Given the description of an element on the screen output the (x, y) to click on. 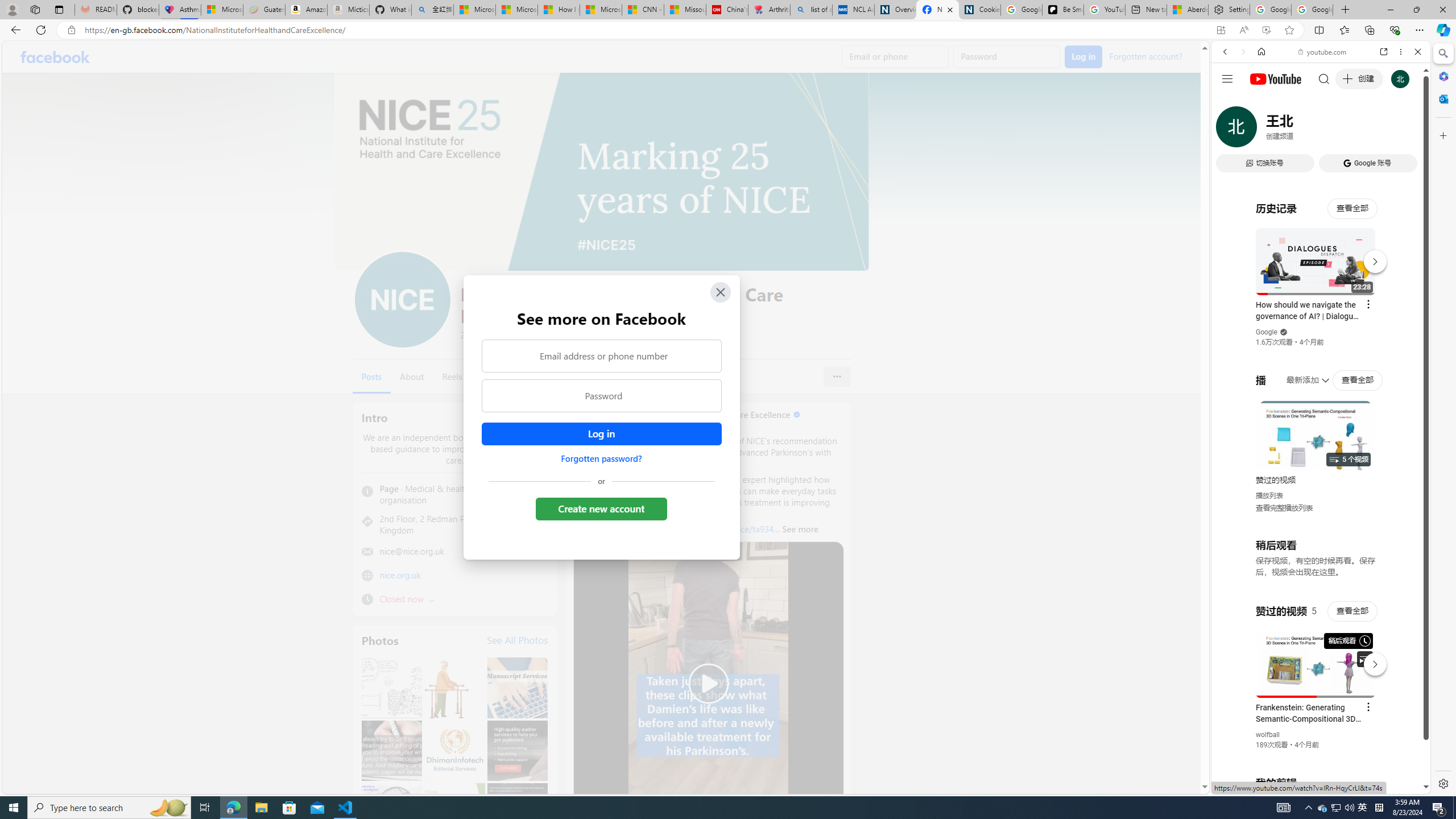
VIDEOS (1300, 130)
Aberdeen, Hong Kong SAR hourly forecast | Microsoft Weather (1186, 9)
This site scope (1259, 102)
CNN - MSN (642, 9)
Preferences (1403, 129)
Enhance video (1266, 29)
Forgotten password? (601, 458)
